Given the description of an element on the screen output the (x, y) to click on. 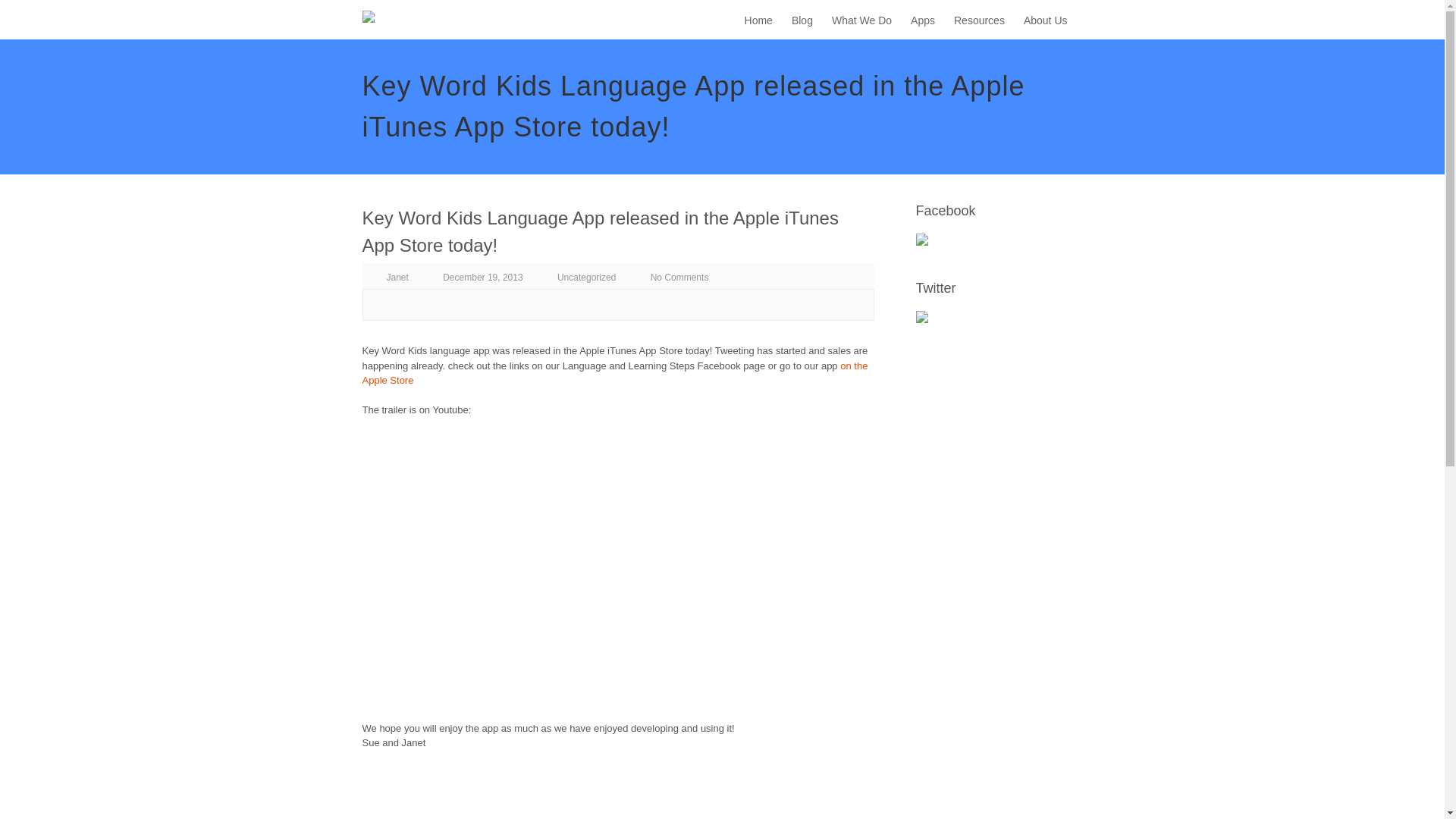
Resources (978, 21)
About Us (1045, 21)
No Comments (679, 276)
Uncategorized (586, 276)
on the Apple Store (614, 372)
December 19, 2013 (482, 276)
What We Do (861, 21)
Key Word Kids Trailer (551, 558)
Janet (398, 276)
